Given the description of an element on the screen output the (x, y) to click on. 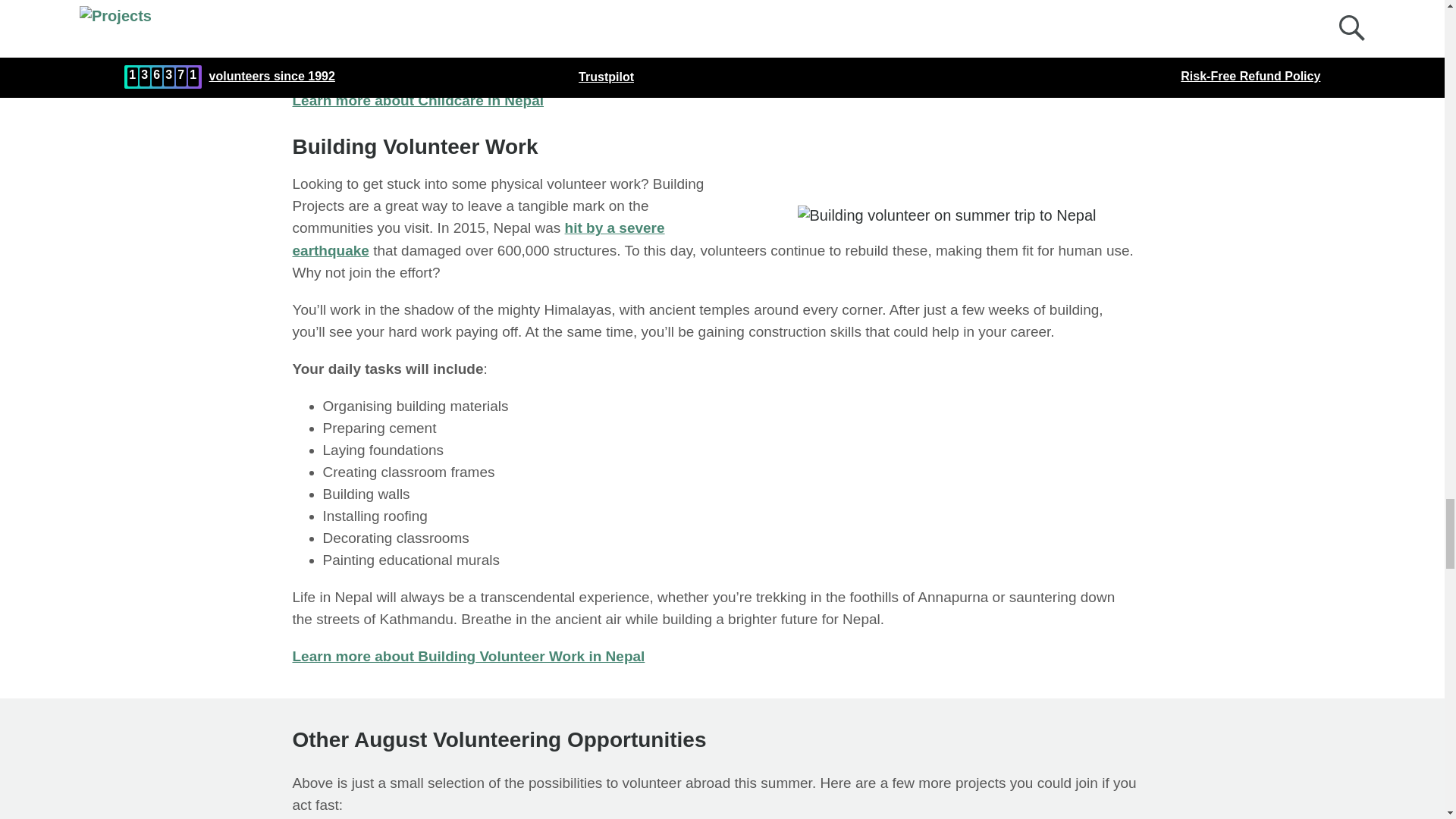
A Building volunteer helps out on a trip to Nepal (939, 215)
